Given the description of an element on the screen output the (x, y) to click on. 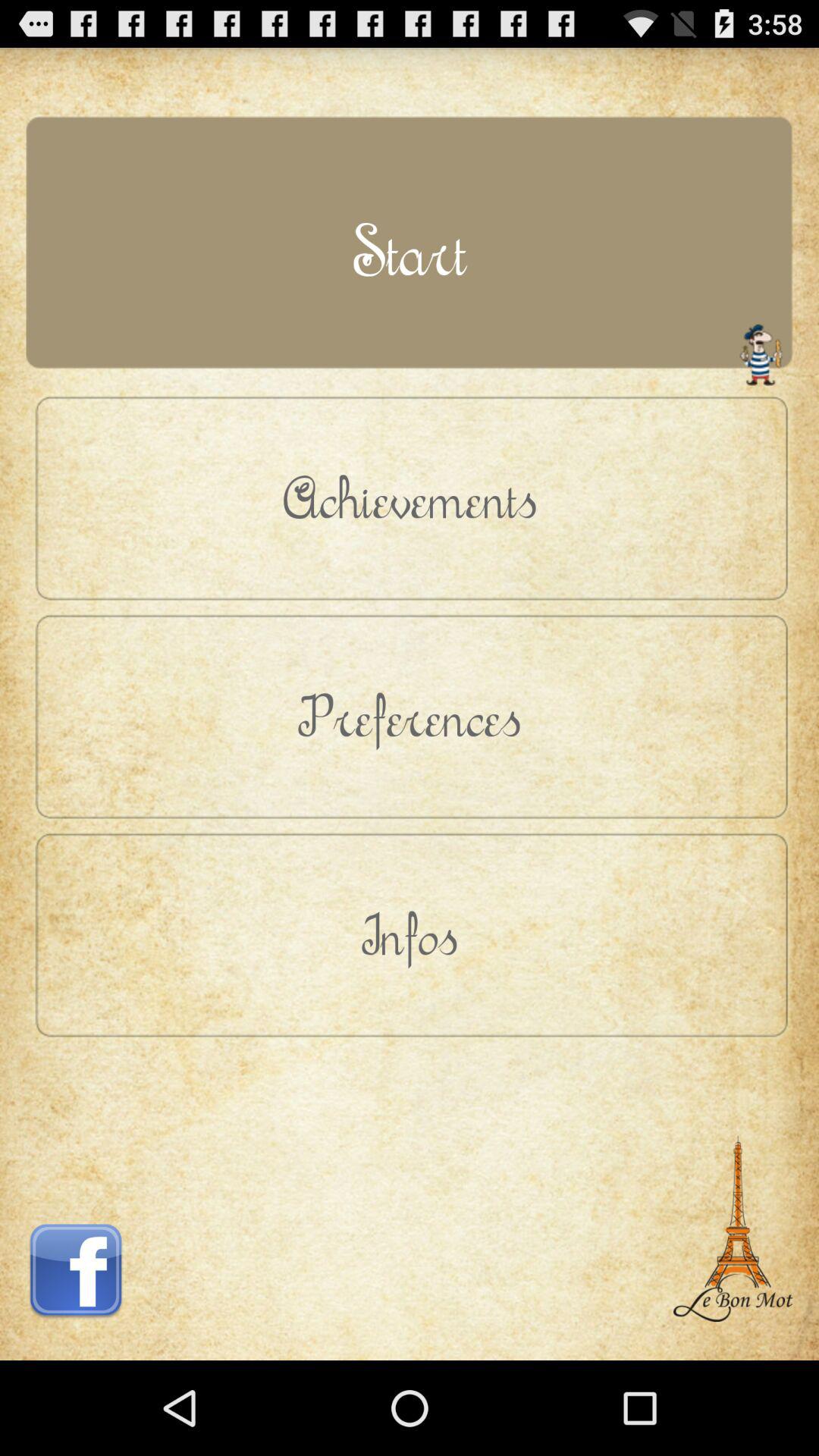
select the item at the top (409, 250)
